Given the description of an element on the screen output the (x, y) to click on. 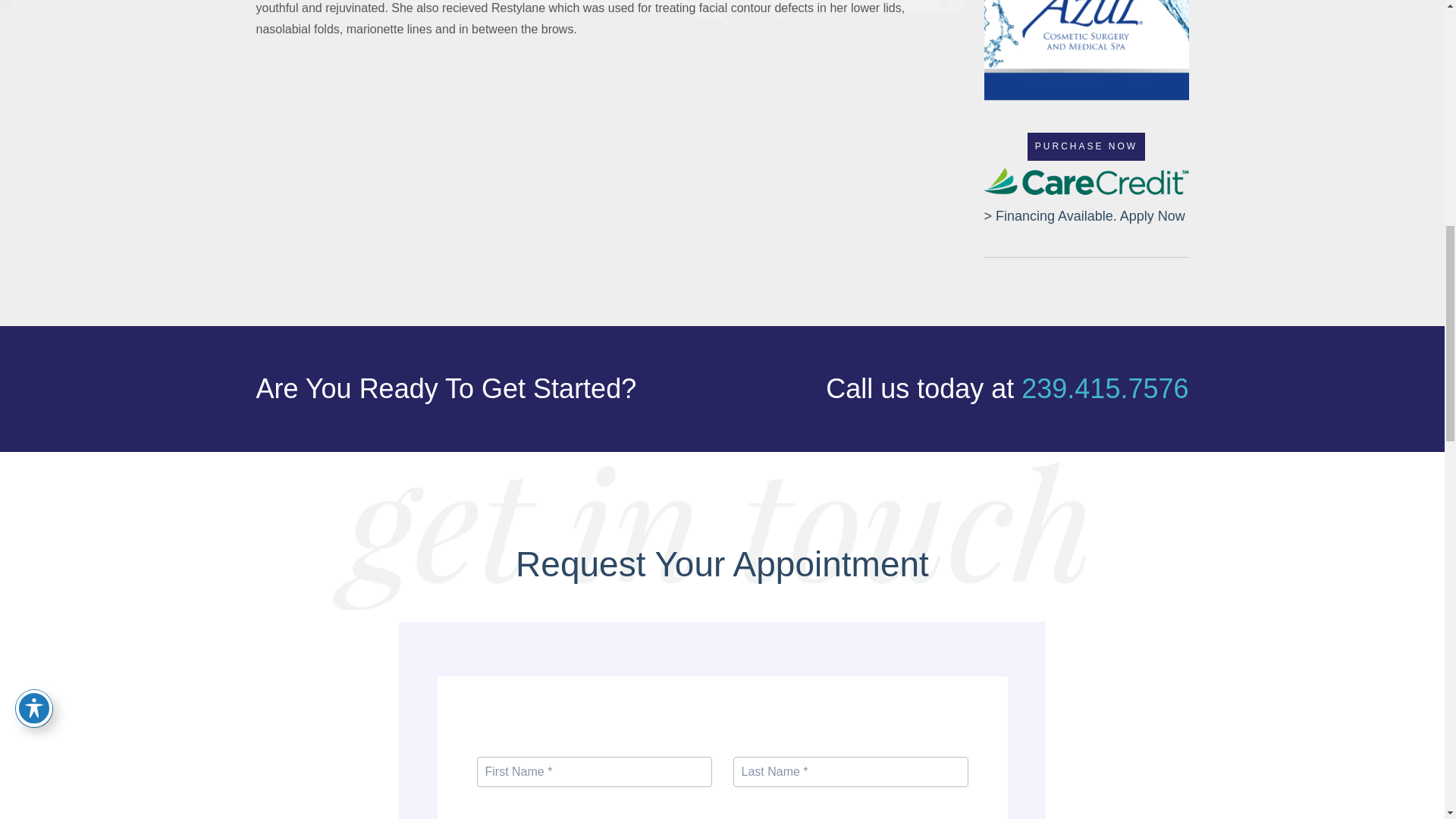
Azul - Main Website Form (721, 720)
CareCredit (1086, 181)
